Given the description of an element on the screen output the (x, y) to click on. 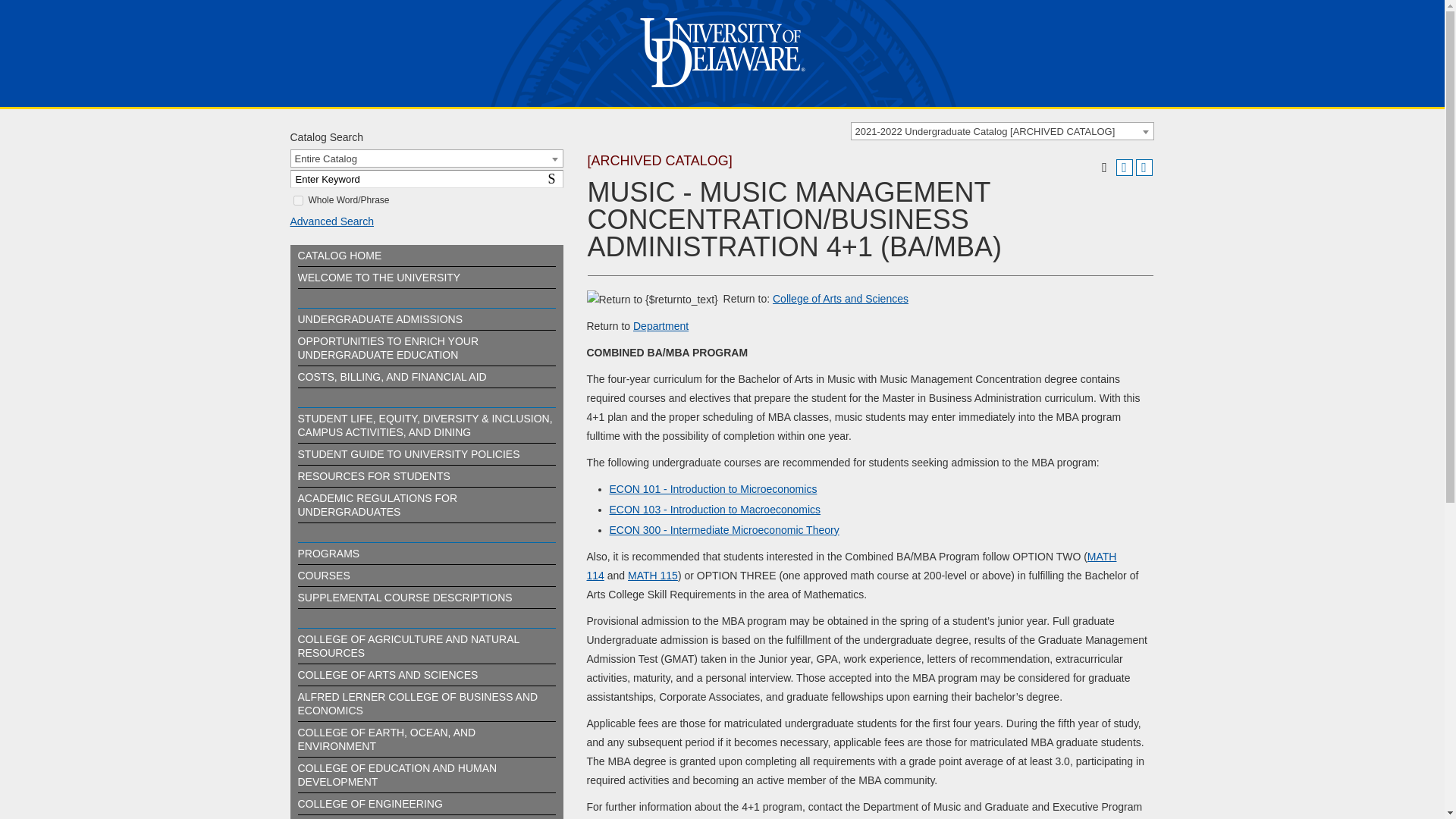
Search Keyword Field, required (425, 178)
Select a Catalog (1002, 131)
OPPORTUNITIES TO ENRICH YOUR UNDERGRADUATE EDUCATION (388, 347)
RESOURCES FOR STUDENTS (373, 476)
UNDERGRADUATE ADMISSIONS (380, 318)
1 (297, 200)
ALFRED LERNER COLLEGE OF BUSINESS AND ECONOMICS (417, 703)
Choose Search Location (425, 158)
COLLEGE OF EDUCATION AND HUMAN DEVELOPMENT (396, 774)
COLLEGE OF AGRICULTURE AND NATURAL RESOURCES (407, 646)
Enter Keyword   (425, 178)
CATALOG HOME (554, 178)
COURSES (339, 255)
Advanced Search (323, 575)
